Given the description of an element on the screen output the (x, y) to click on. 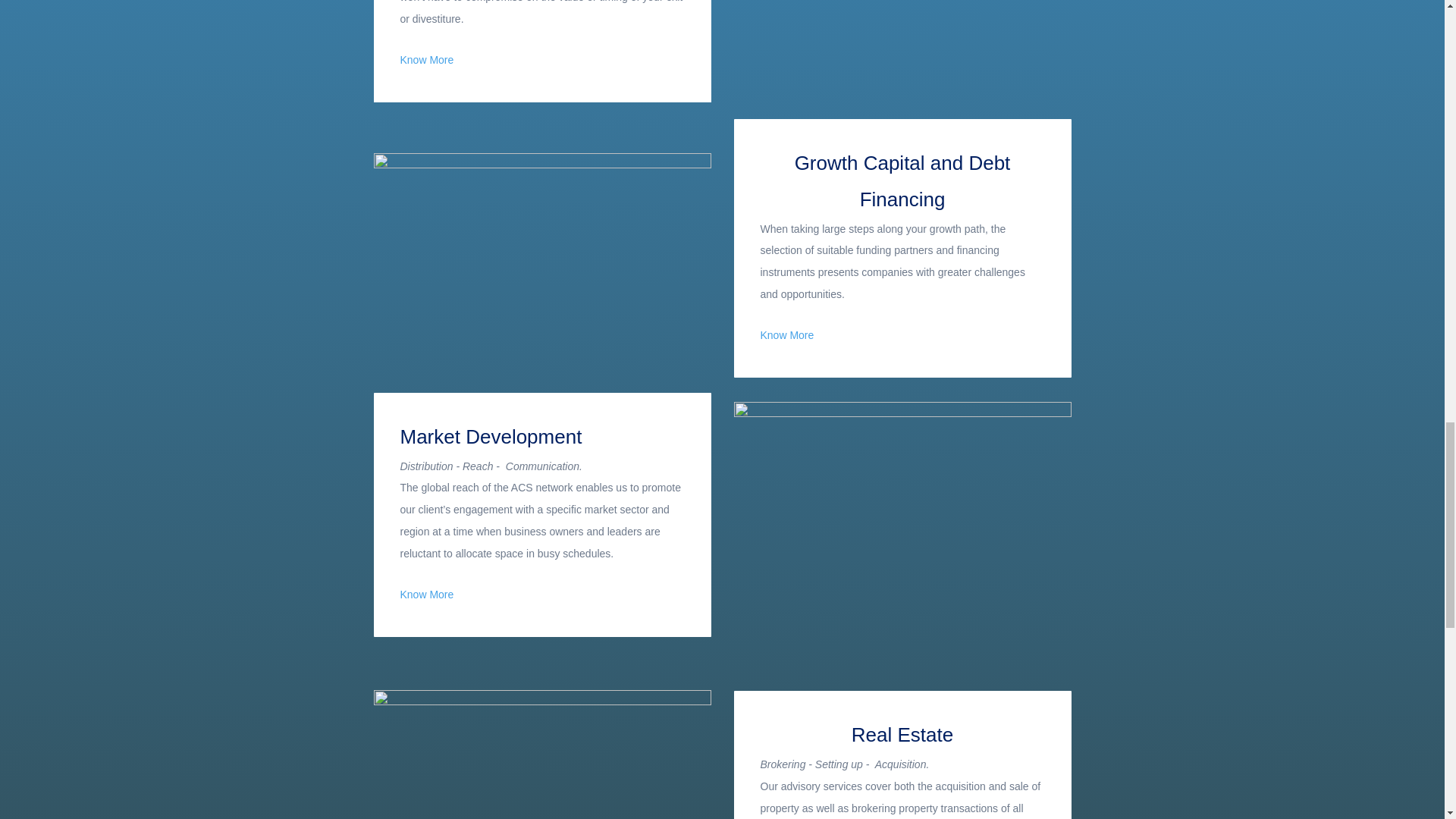
Know More (427, 594)
Know More (786, 336)
Know More (427, 60)
